Given the description of an element on the screen output the (x, y) to click on. 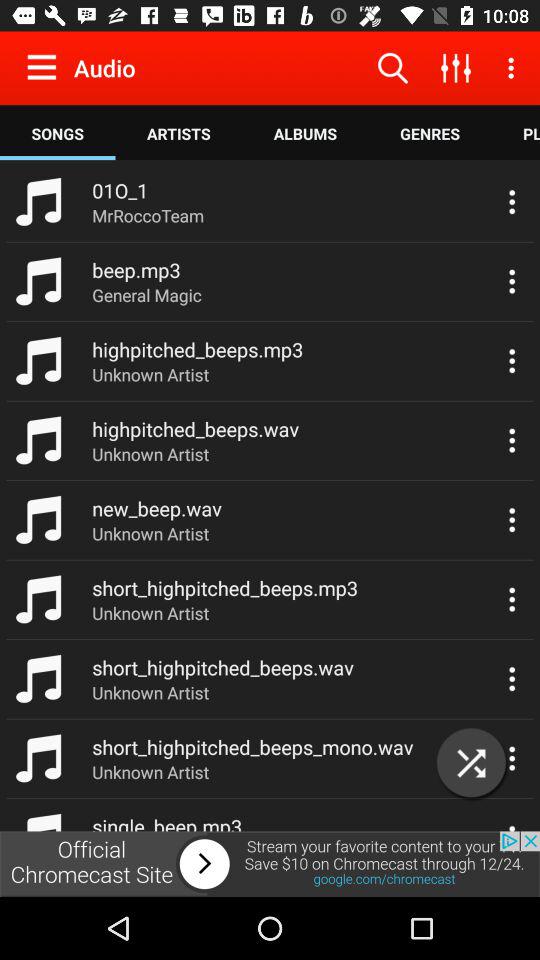
next page botton (270, 864)
